Given the description of an element on the screen output the (x, y) to click on. 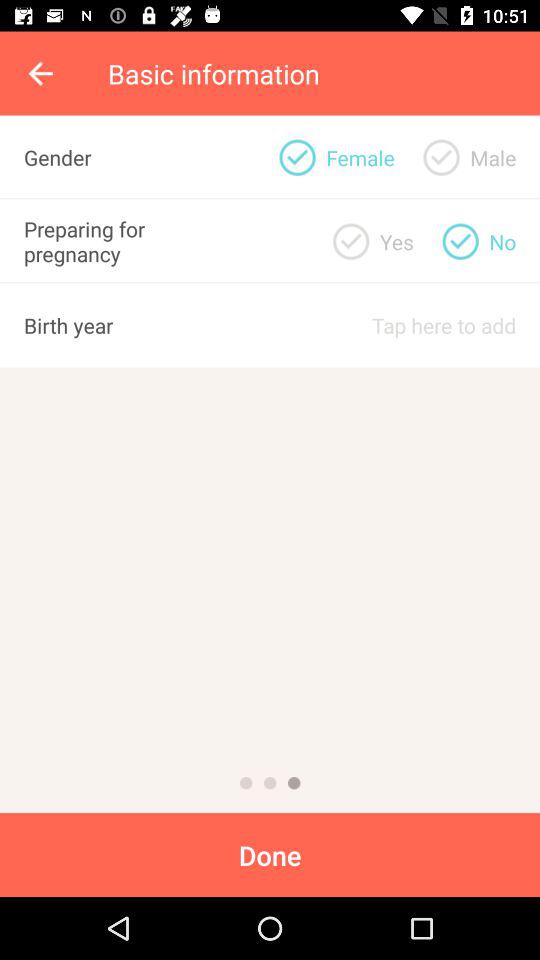
swipe to the yes icon (396, 241)
